Given the description of an element on the screen output the (x, y) to click on. 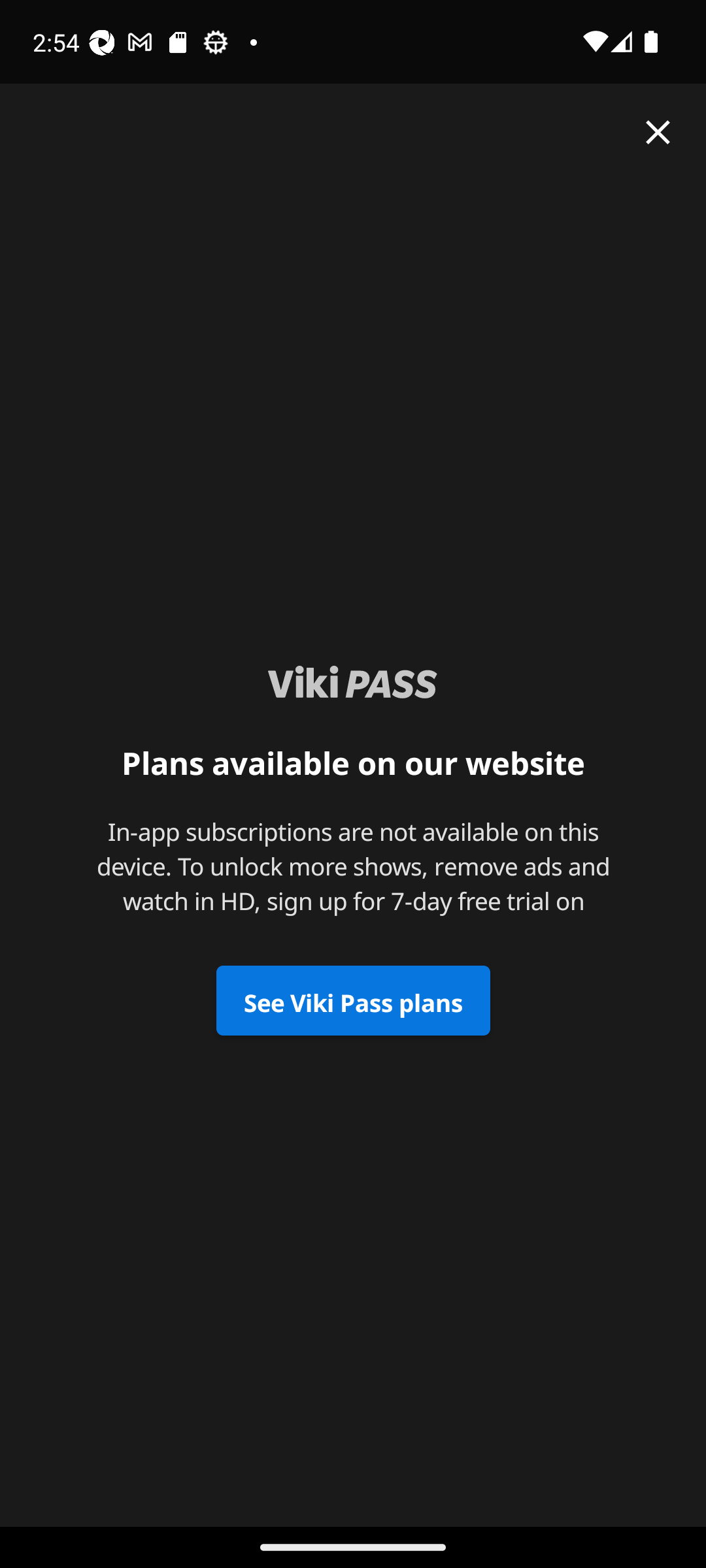
close_button (658, 132)
See Viki Pass plans (352, 1000)
